Given the description of an element on the screen output the (x, y) to click on. 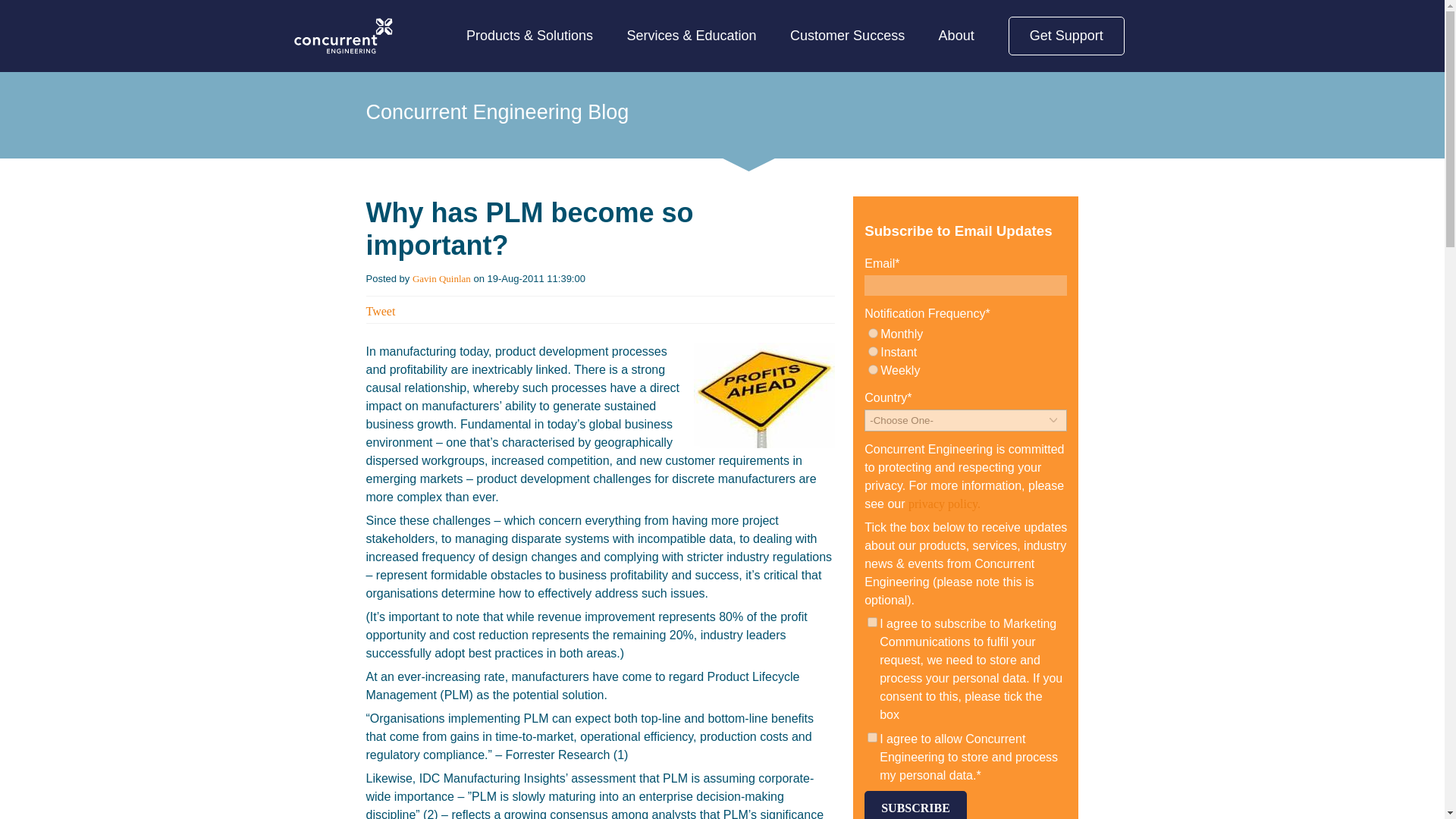
instant (872, 351)
true (872, 737)
true (872, 622)
About (956, 35)
weekly (872, 369)
Get Support (1066, 35)
Customer Success (847, 35)
monthly (872, 333)
Subscribe (915, 805)
